Given the description of an element on the screen output the (x, y) to click on. 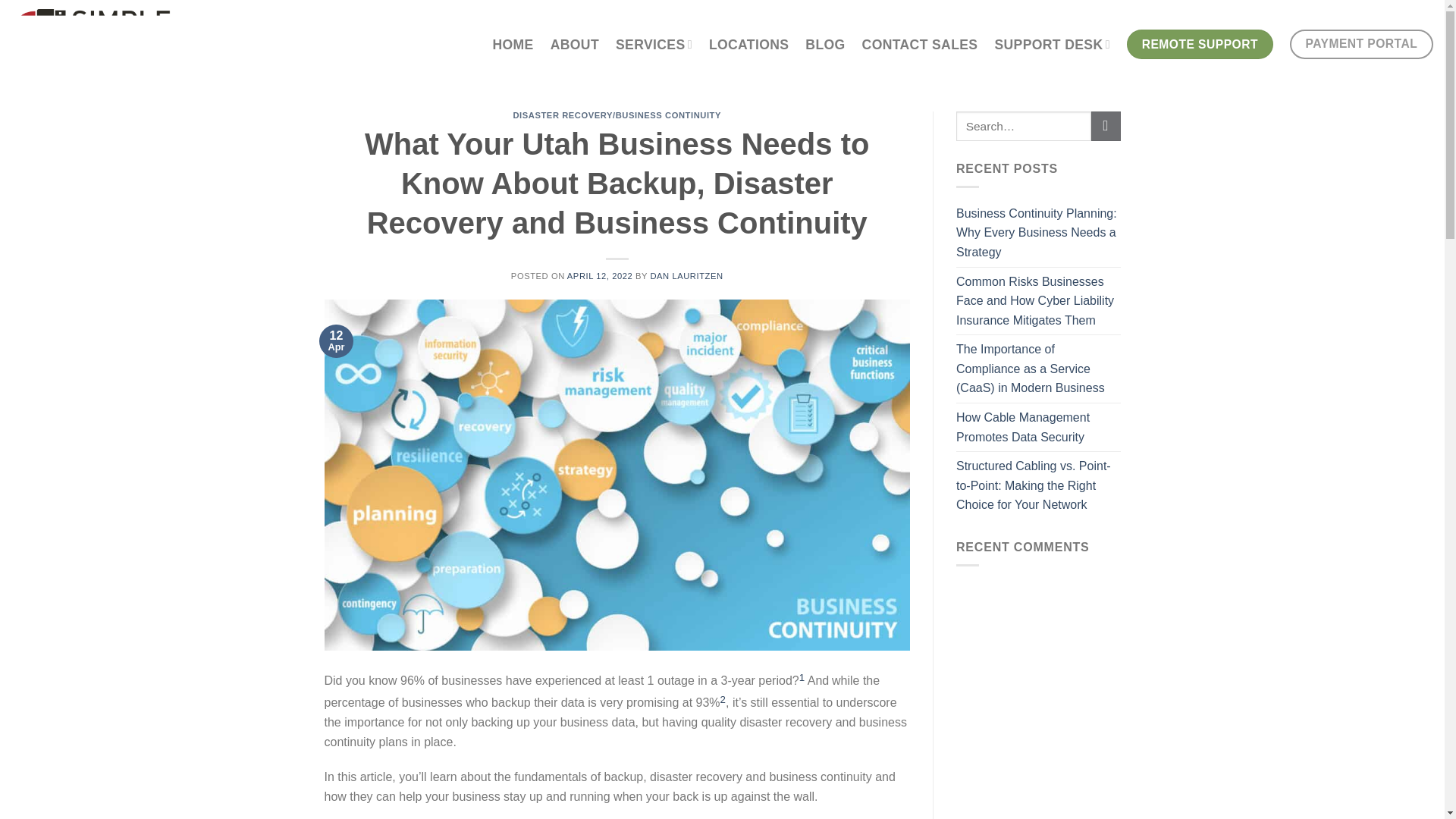
DAN LAURITZEN (685, 275)
1 (802, 680)
SERVICES (654, 43)
2 (722, 703)
CONTACT SALES (919, 43)
ABOUT (574, 43)
SUPPORT DESK (1051, 43)
HOME (513, 43)
LOCATIONS (749, 43)
PAYMENT PORTAL (1361, 43)
APRIL 12, 2022 (599, 275)
BLOG (824, 43)
REMOTE SUPPORT (1199, 44)
